Given the description of an element on the screen output the (x, y) to click on. 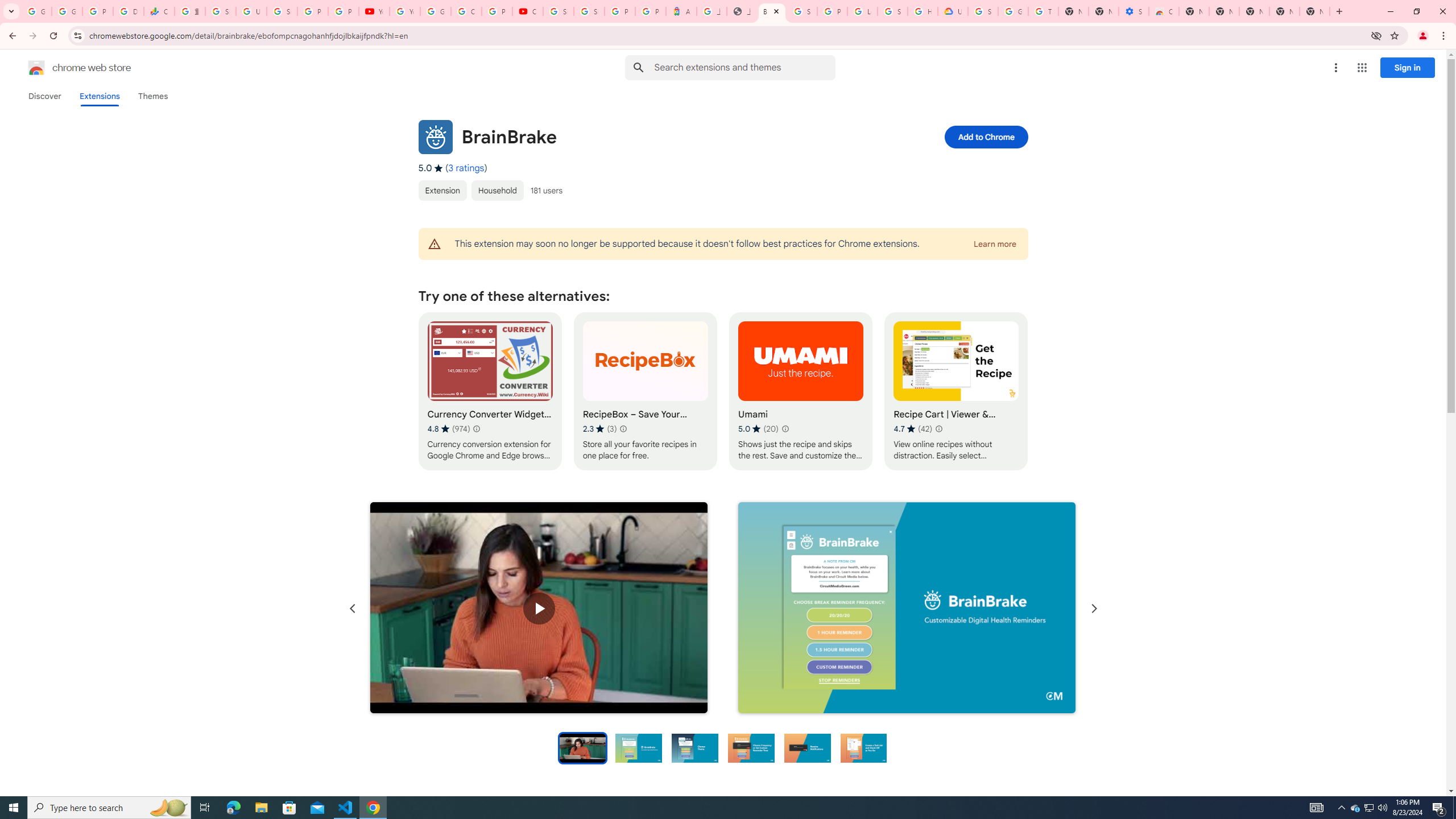
Preview slide 4 (751, 747)
Umami (800, 391)
Sign in - Google Accounts (282, 11)
Privacy Checkup (343, 11)
3 ratings (466, 167)
Next slide (1093, 608)
